Given the description of an element on the screen output the (x, y) to click on. 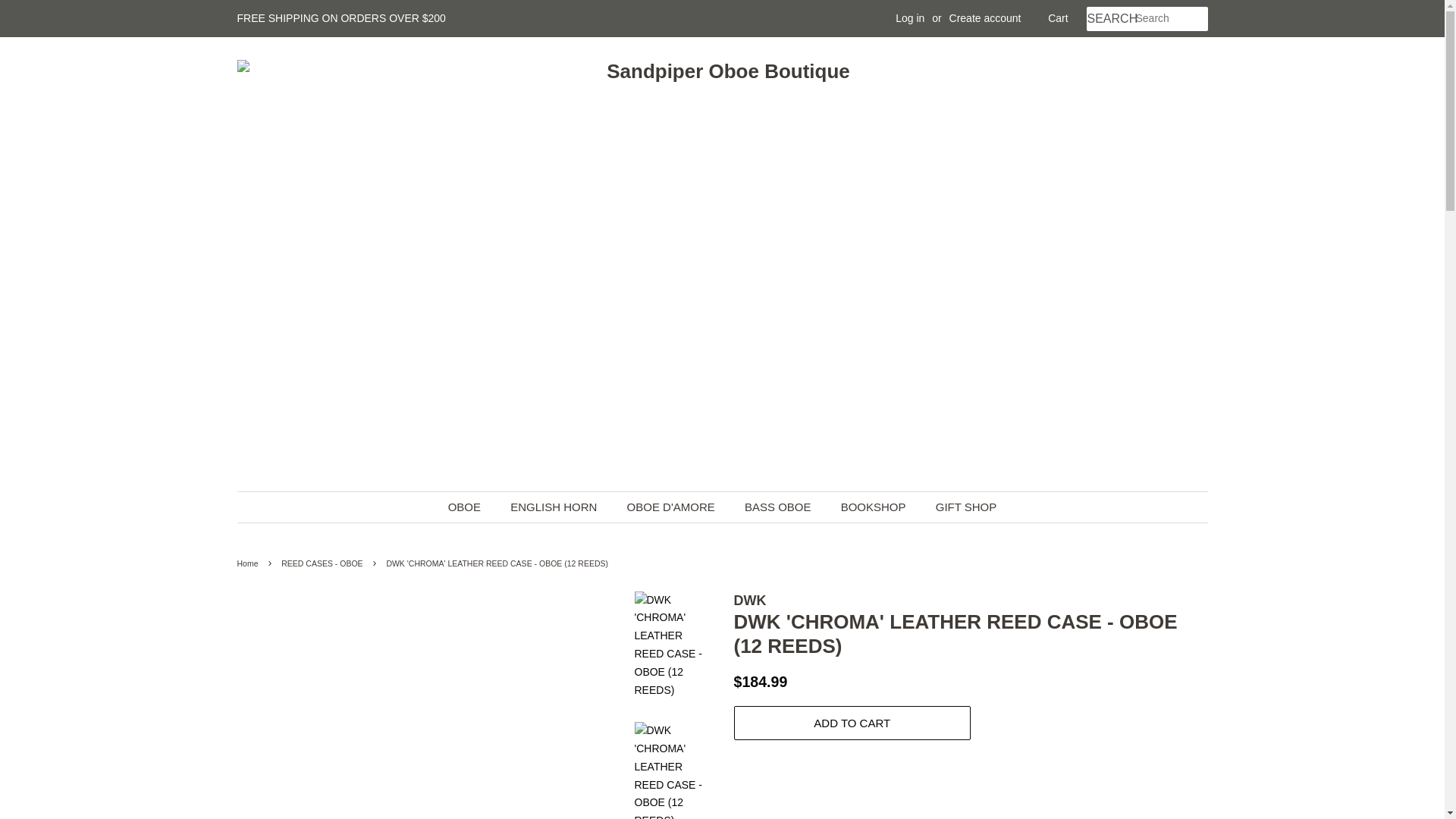
Log in (909, 18)
Cart (1057, 18)
Back to the frontpage (248, 563)
Create account (985, 18)
OBOE (472, 507)
SEARCH (1110, 18)
